Given the description of an element on the screen output the (x, y) to click on. 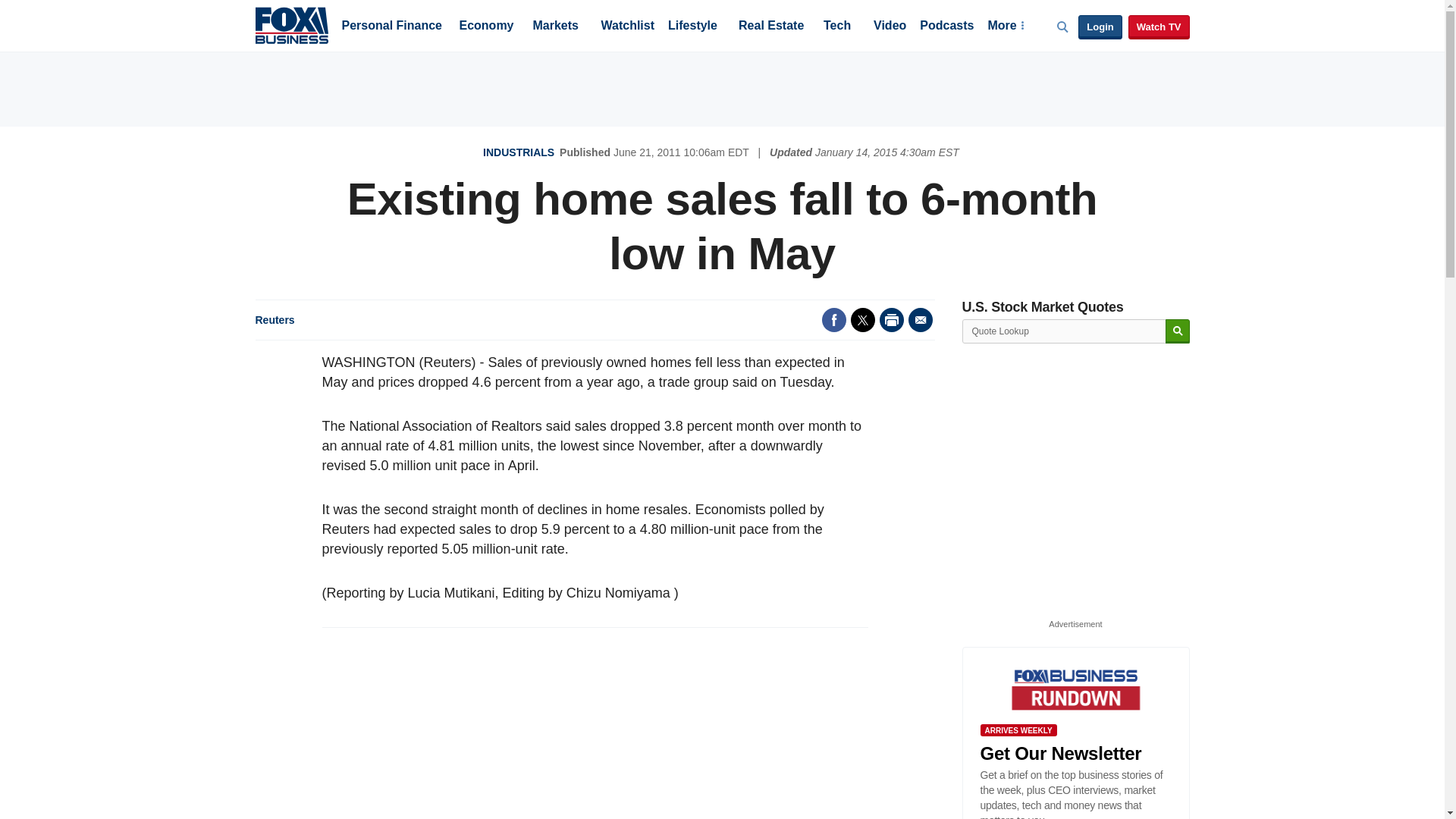
Watchlist (626, 27)
Economy (486, 27)
Tech (837, 27)
Lifestyle (692, 27)
More (1005, 27)
Search (1176, 331)
Login (1099, 27)
Watch TV (1158, 27)
Search (1176, 331)
Fox Business (290, 24)
